Given the description of an element on the screen output the (x, y) to click on. 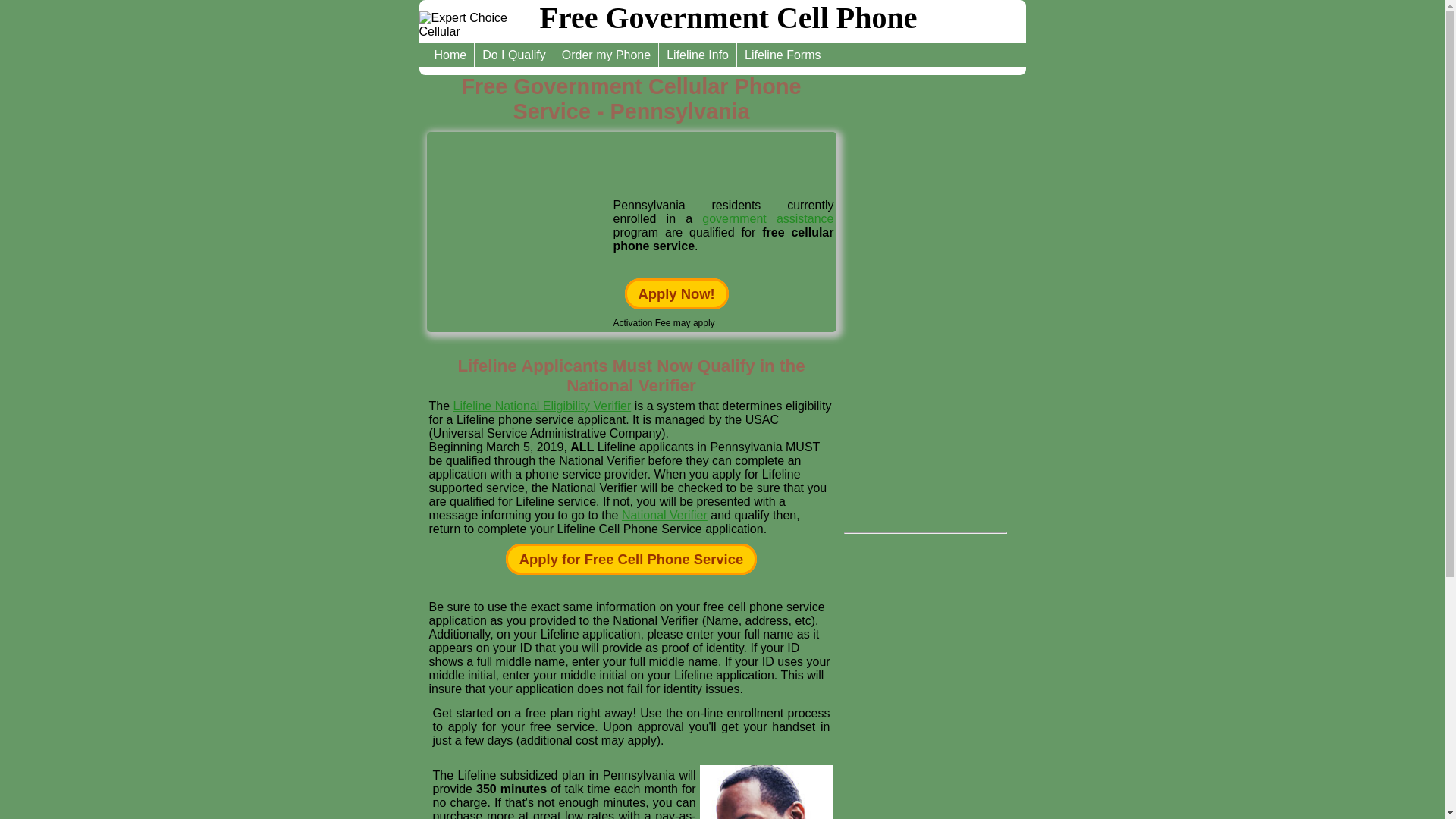
Lifeline Info (697, 55)
National Verifier (664, 514)
Apply for Free Cell Phone Service (631, 558)
government assistance (766, 218)
Lifeline Forms (782, 55)
Home (449, 55)
Apply Now! (676, 293)
Do I Qualify (513, 55)
Order my Phone (606, 55)
Lifeline National Eligibility Verifier (541, 405)
